Given the description of an element on the screen output the (x, y) to click on. 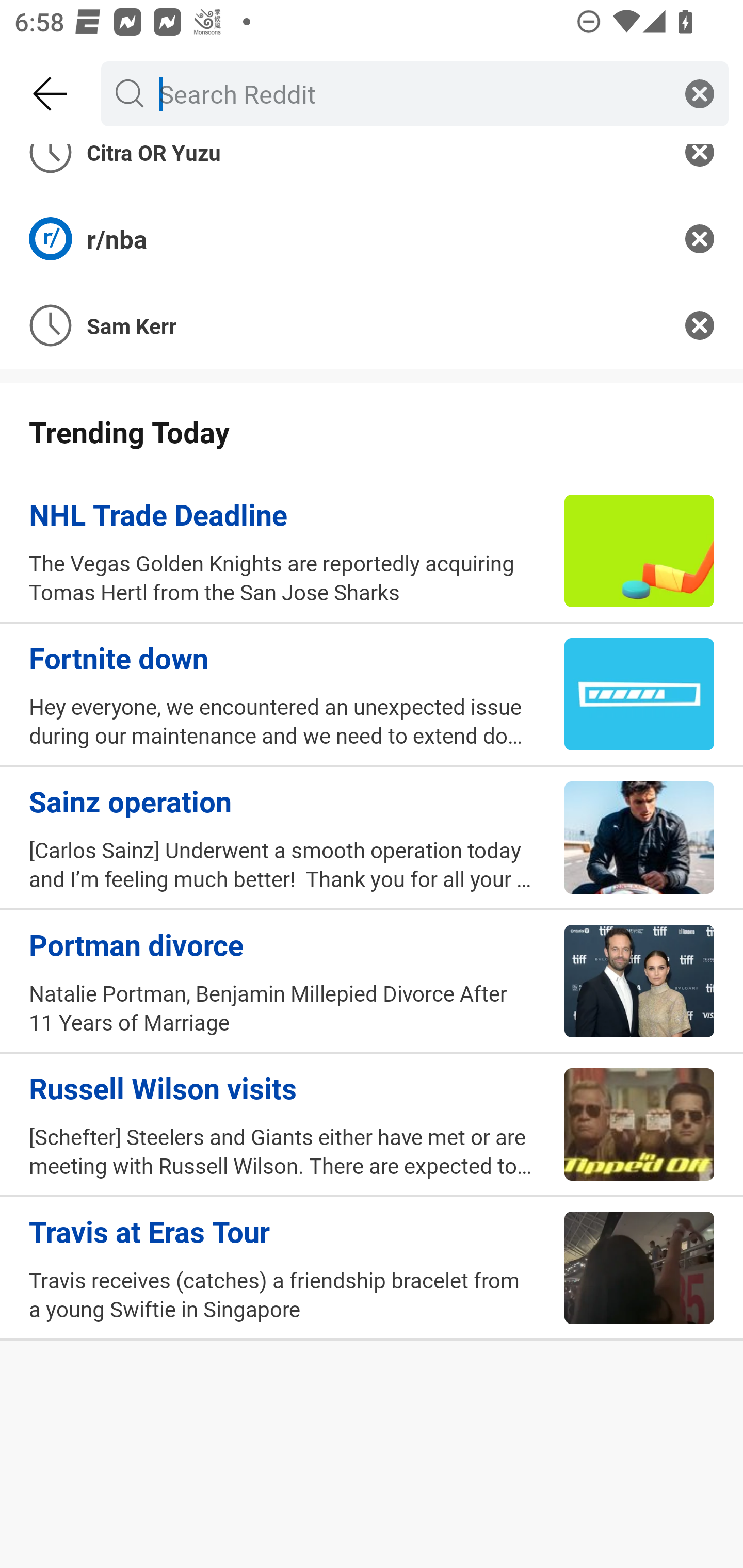
Back (50, 93)
Search Reddit (410, 93)
Clear search (699, 93)
Citra OR Yuzu Recent search: Citra OR Yuzu Remove (371, 170)
r/nba Recent search: r/nba Remove (371, 239)
Remove (699, 239)
Sam Kerr Recent search: Sam Kerr Remove (371, 325)
Remove (699, 325)
